Given the description of an element on the screen output the (x, y) to click on. 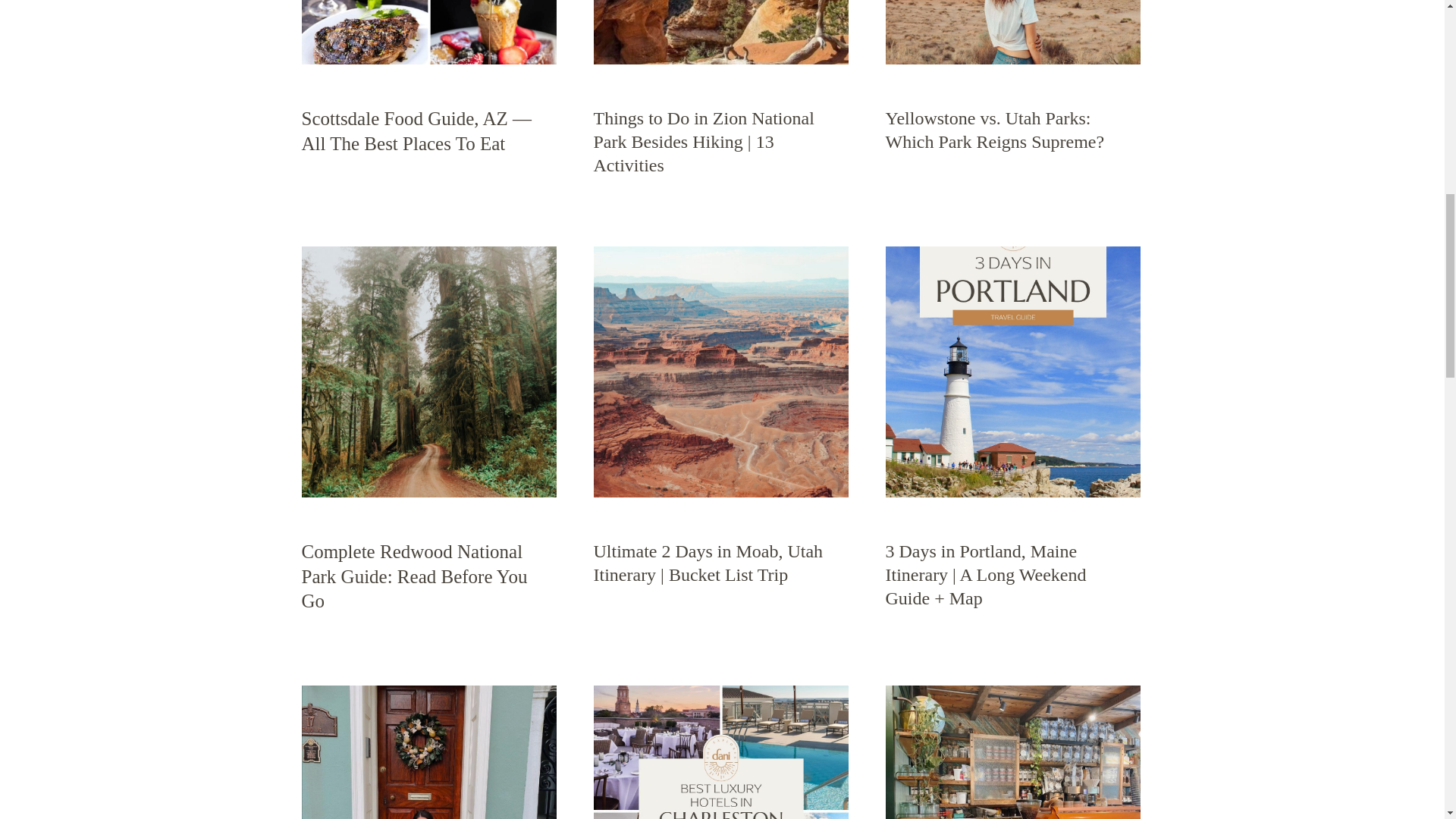
Perfect 3 Day Charleston, SC Itinerary for Your Bucket List (428, 752)
Complete Redwood National Park Guide: Read Before You Go (428, 371)
